Given the description of an element on the screen output the (x, y) to click on. 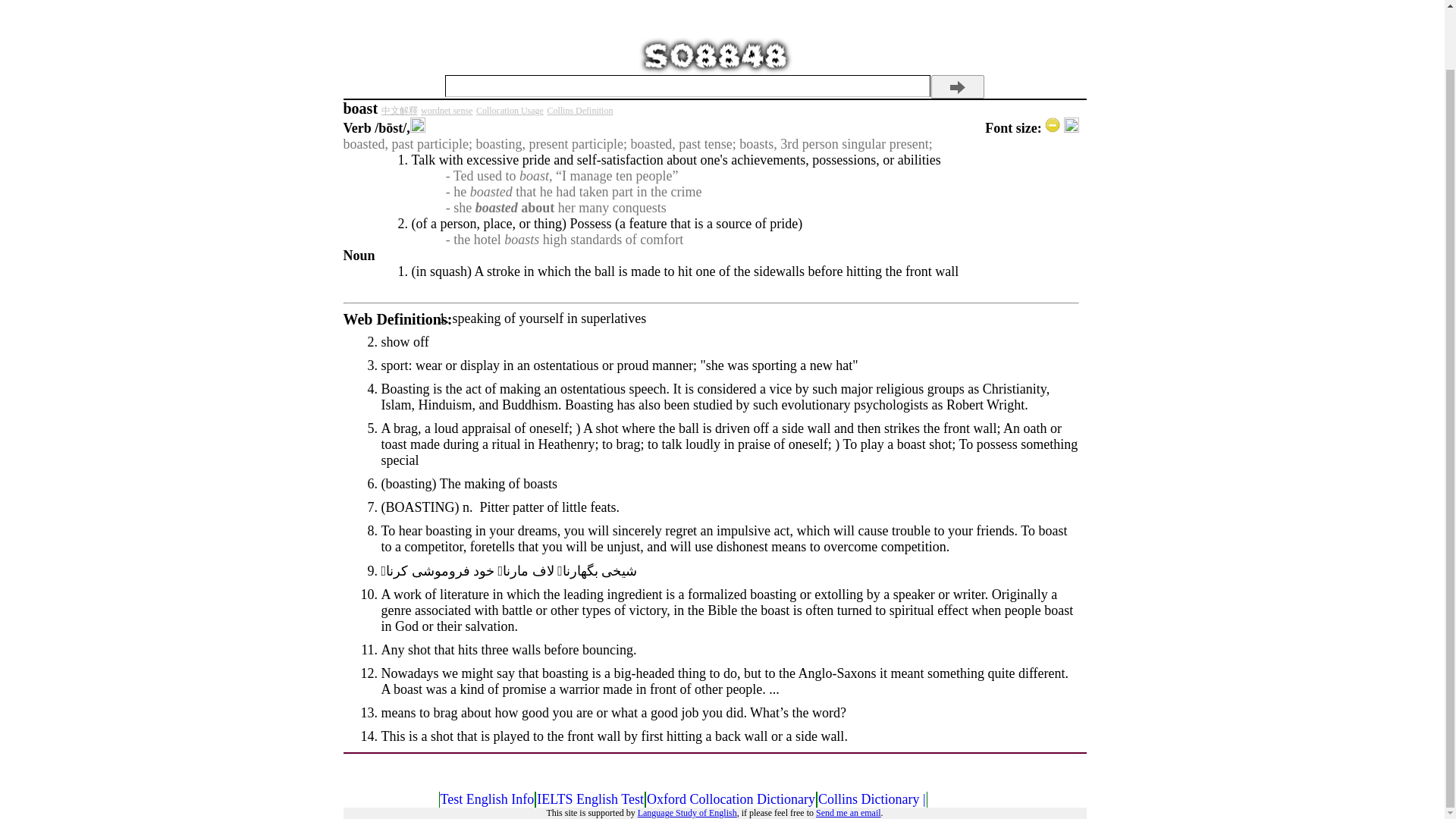
Send me an email (847, 812)
Collins Definition (579, 110)
wordnet sense (445, 110)
Collocation Usage (509, 110)
IELTS English Test (590, 799)
Oxford Collocation Dictionary (730, 799)
Language Study of English (686, 812)
Test English Info (486, 799)
